Given the description of an element on the screen output the (x, y) to click on. 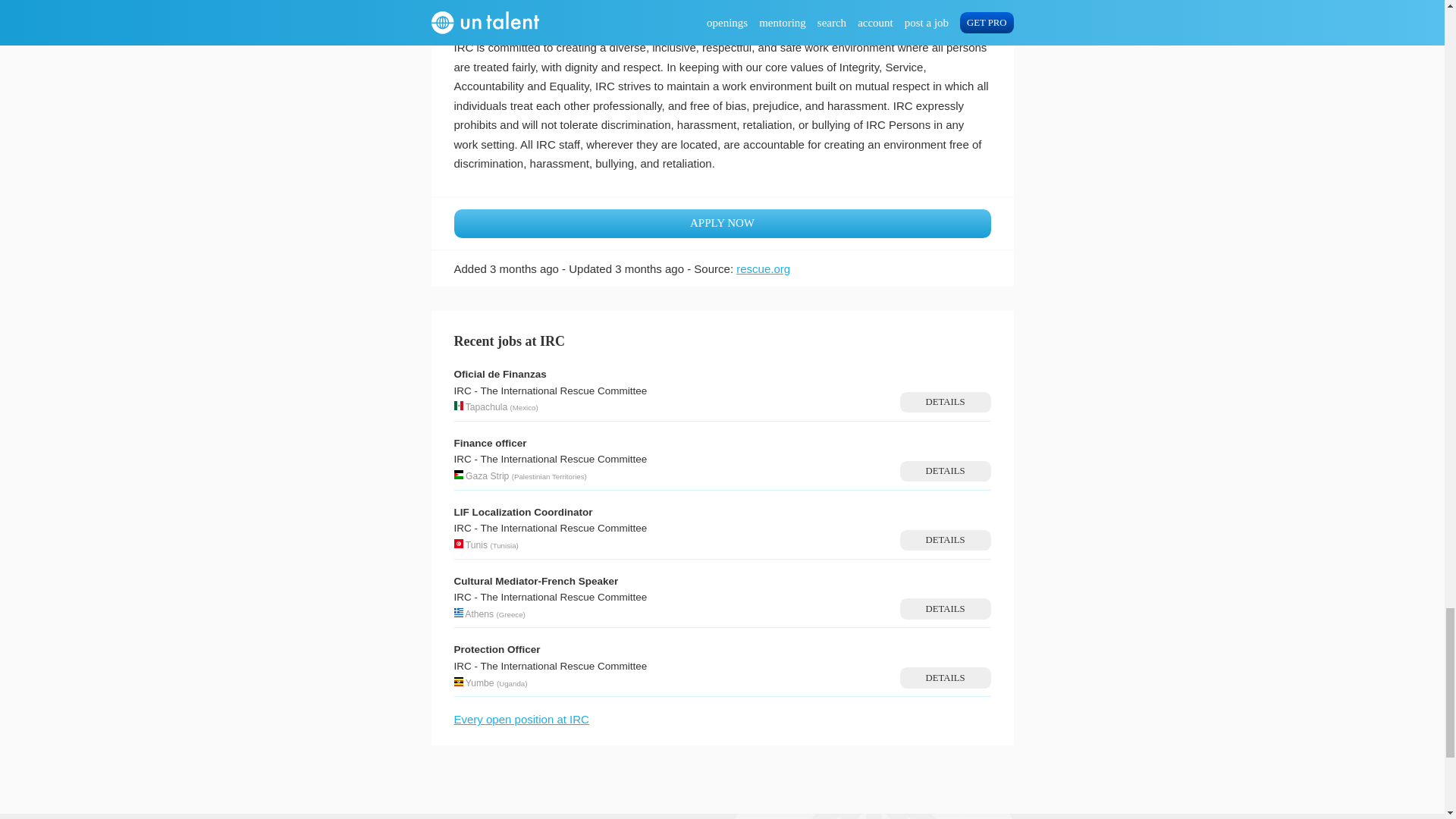
Mexico (523, 407)
Protection Officer (496, 649)
Uganda (511, 683)
Greece (510, 614)
Cultural Mediator-French Speaker (534, 581)
Tapachula (485, 407)
Finance officer (488, 442)
APPLY NOW (721, 223)
Athens (478, 614)
IRC - The International Rescue Committee (549, 390)
DETAILS (944, 471)
DETAILS (944, 608)
Tunisia (504, 545)
DETAILS (944, 402)
Tunis (476, 544)
